Given the description of an element on the screen output the (x, y) to click on. 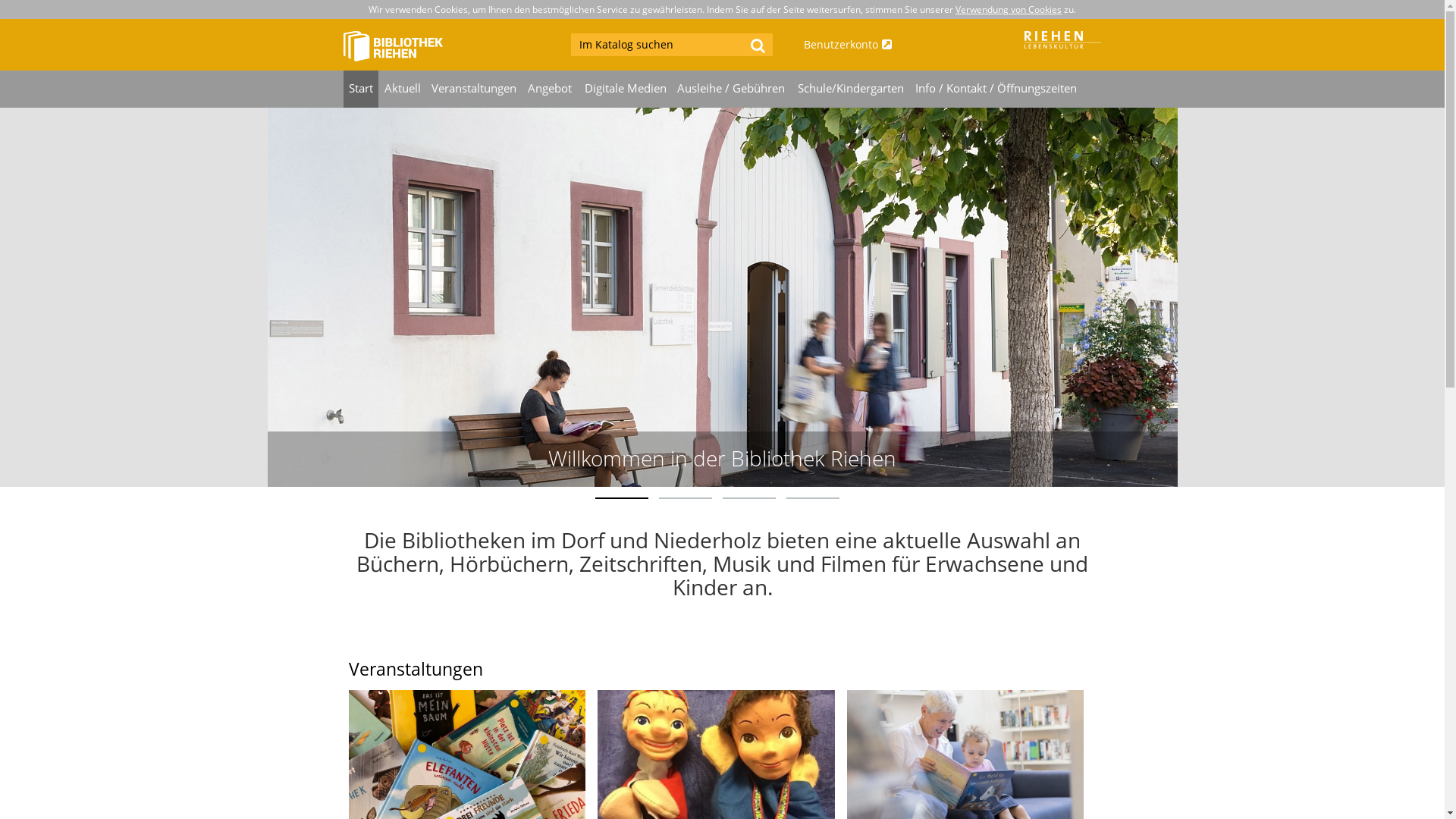
Willkommen in der Bibliothek Riehen Element type: text (722, 458)
Verwendung von Cookies Element type: text (1008, 9)
Schule/Kindergarten Element type: text (851, 88)
Digitale Medien Element type: text (624, 88)
Aktuell Element type: text (402, 88)
4 Element type: text (811, 497)
Start Element type: text (360, 88)
2 Element type: text (684, 497)
1 Element type: text (620, 497)
Angebot Element type: text (550, 88)
Benutzerkonto Element type: text (881, 44)
Veranstaltungen Element type: text (474, 88)
3 Element type: text (748, 497)
